Given the description of an element on the screen output the (x, y) to click on. 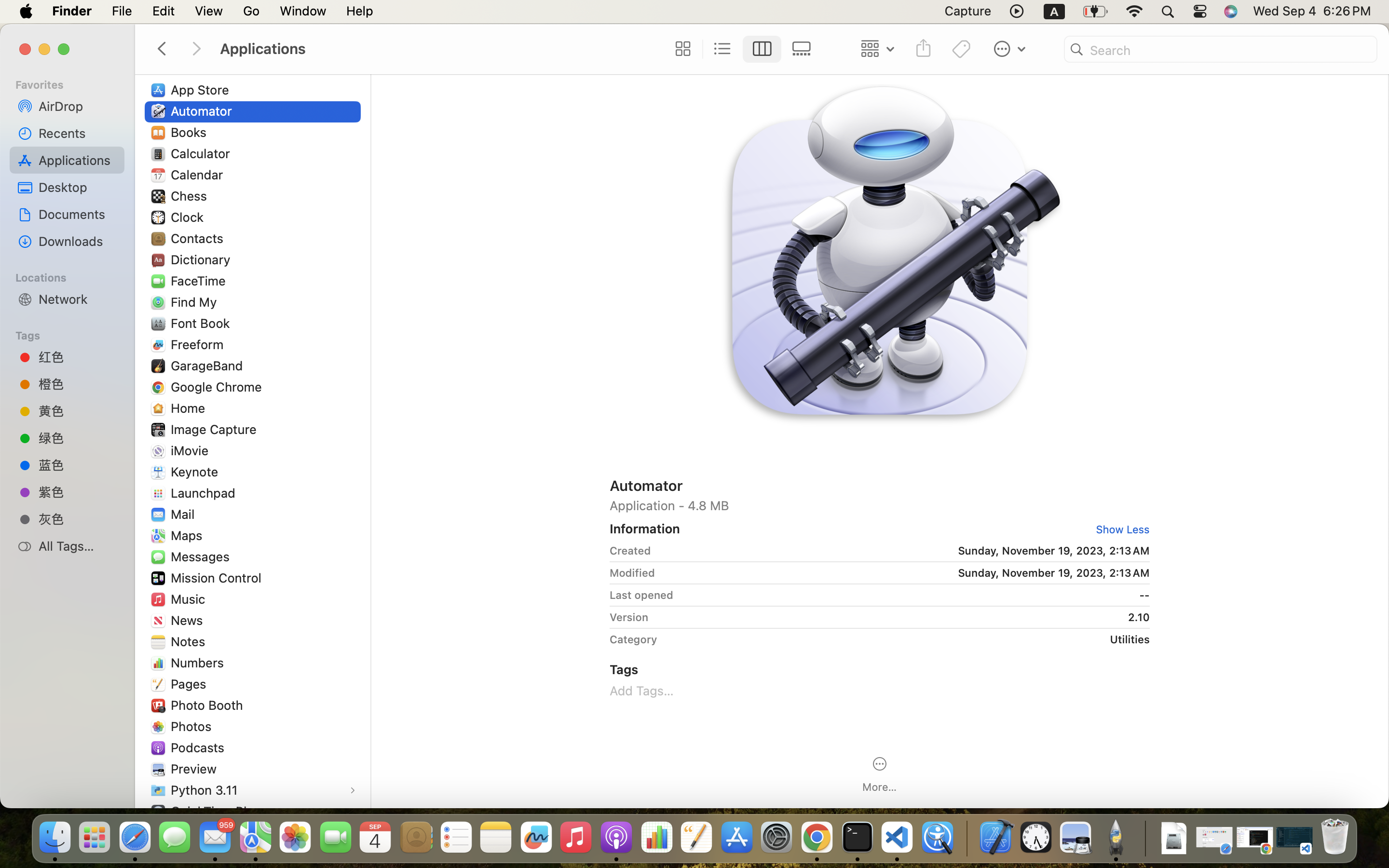
<AXUIElement 0x127f853d0> {pid=510} Element type: AXRadioGroup (741, 48)
Chess Element type: AXTextField (190, 195)
Automator Element type: AXStaticText (879, 484)
Python 3.11 Element type: AXTextField (206, 789)
Freeform Element type: AXTextField (198, 344)
